Given the description of an element on the screen output the (x, y) to click on. 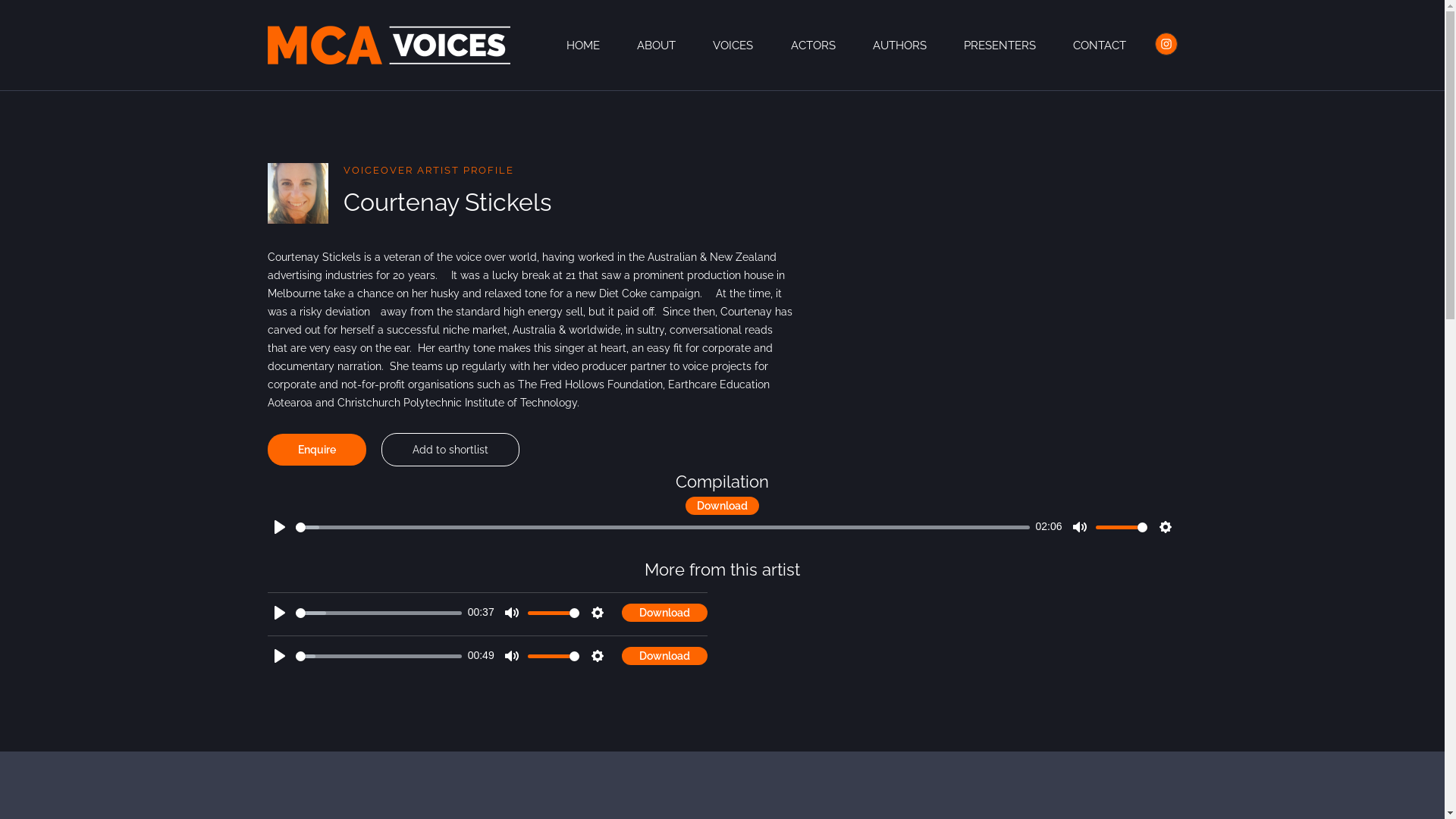
Download Element type: text (664, 655)
Add to shortlist Element type: text (450, 449)
ABOUT Element type: text (656, 45)
AUTHORS Element type: text (899, 45)
ACTORS Element type: text (812, 45)
Play Element type: text (278, 526)
VOICES Element type: text (732, 45)
Mute Element type: text (511, 612)
Mute Element type: text (1079, 526)
HOME Element type: text (582, 45)
Settings Element type: text (597, 612)
Download Element type: text (664, 612)
Play Element type: text (278, 612)
Settings Element type: text (1164, 526)
Enquire Element type: text (315, 449)
CONTACT Element type: text (1099, 45)
Play Element type: text (278, 655)
PRESENTERS Element type: text (999, 45)
Settings Element type: text (597, 655)
Download Element type: text (722, 505)
Mute Element type: text (511, 655)
